Given the description of an element on the screen output the (x, y) to click on. 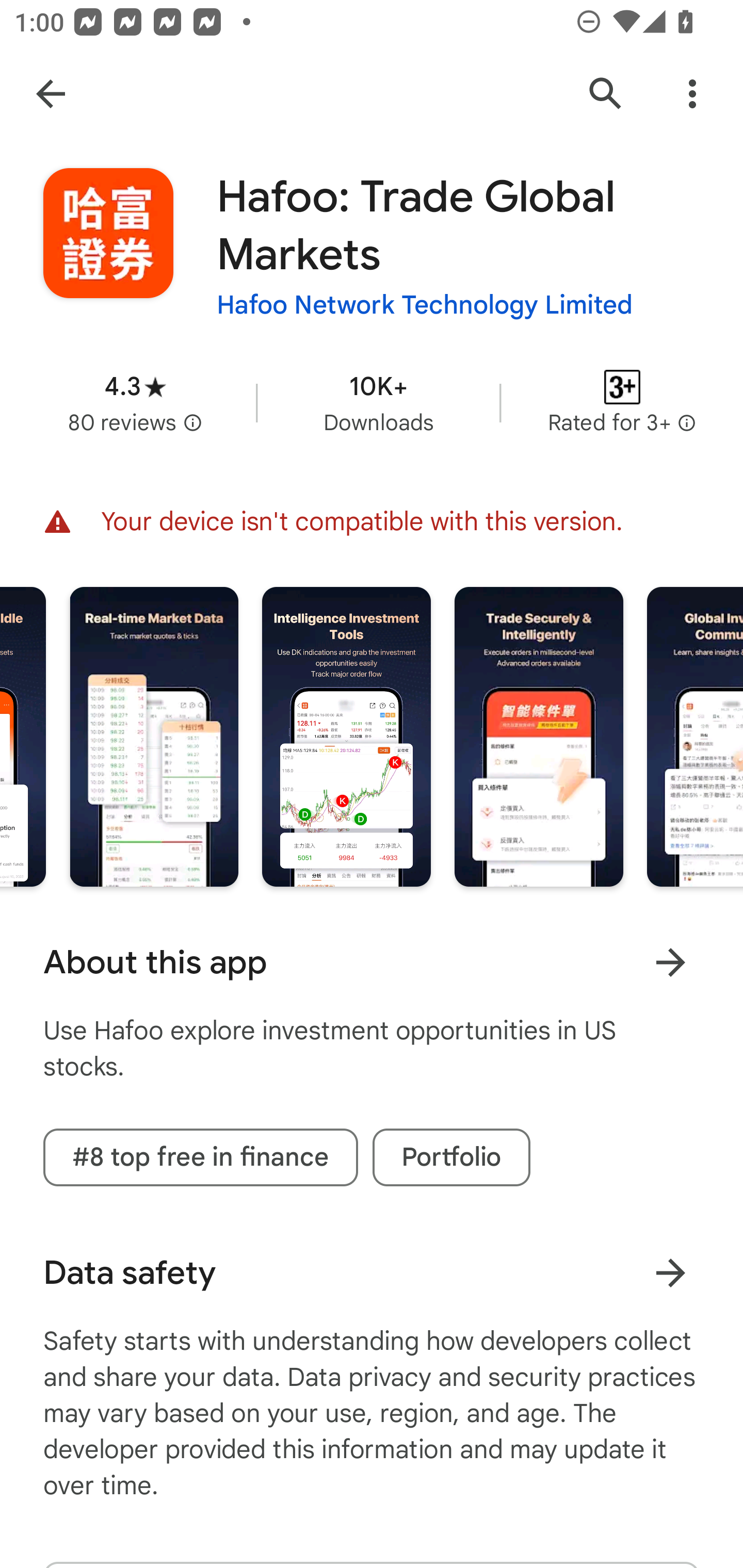
Navigate up (50, 93)
Search Google Play (605, 93)
More Options (692, 93)
Hafoo Network Technology Limited (424, 304)
Average rating 4.3 stars in 80 reviews (135, 402)
Content rating Rated for 3+ (622, 402)
Screenshot "4" of "8" (153, 735)
Screenshot "5" of "8" (346, 735)
Screenshot "6" of "8" (538, 735)
About this app Learn more About this app (371, 962)
Learn more About this app (670, 961)
#8 top free in finance tag (200, 1157)
Portfolio tag (451, 1157)
Data safety Learn more about data safety (371, 1273)
Learn more about data safety (670, 1272)
